Given the description of an element on the screen output the (x, y) to click on. 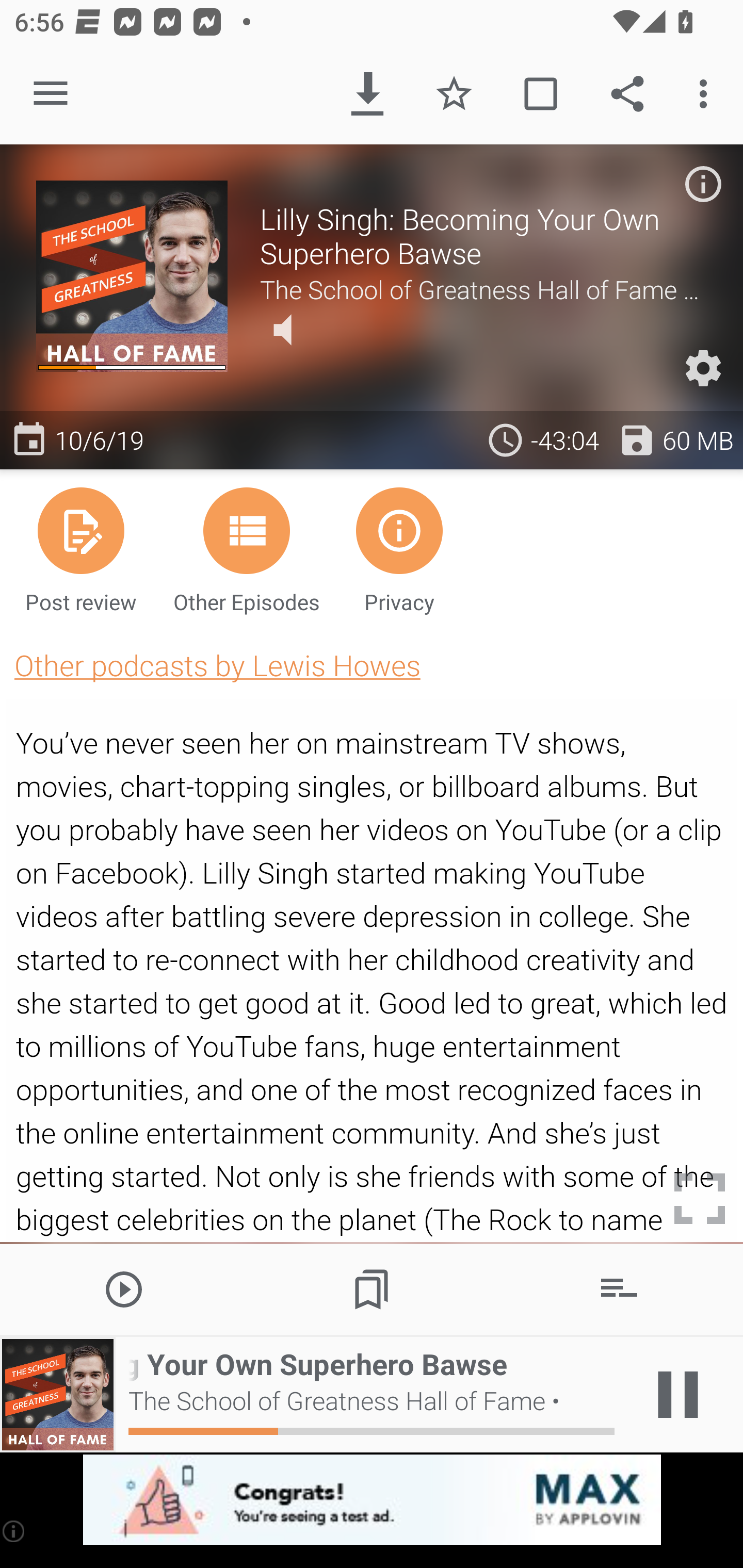
Open navigation sidebar (50, 93)
Download (366, 93)
Favorite (453, 93)
Mark played / unplayed (540, 93)
Share (626, 93)
More options (706, 93)
Podcast description (703, 184)
Lilly Singh: Becoming Your Own Superhero Bawse (483, 235)
Custom Settings (703, 368)
Post review (81, 549)
Other Episodes (246, 549)
Privacy (399, 549)
Other podcasts by Lewis Howes (217, 665)
Toggle full screen mode (699, 1198)
Play (123, 1288)
Chapters / Bookmarks (371, 1288)
Remove from Playlist (619, 1288)
Play / Pause (677, 1394)
app-monetization (371, 1500)
(i) (14, 1531)
